Given the description of an element on the screen output the (x, y) to click on. 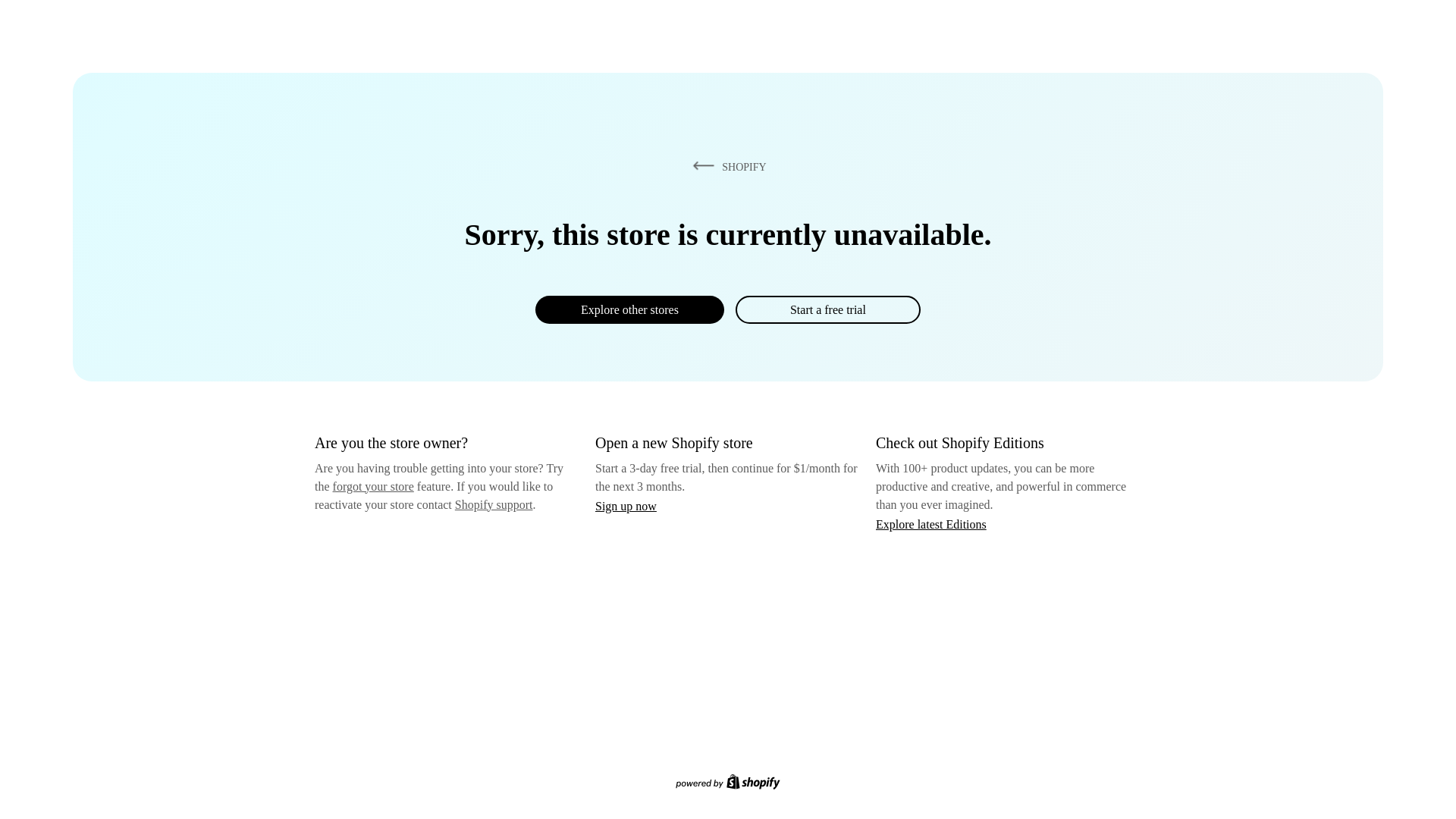
SHOPIFY (726, 166)
Explore latest Editions (931, 523)
Sign up now (625, 505)
Explore other stores (629, 309)
forgot your store (373, 486)
Start a free trial (827, 309)
Shopify support (493, 504)
